Given the description of an element on the screen output the (x, y) to click on. 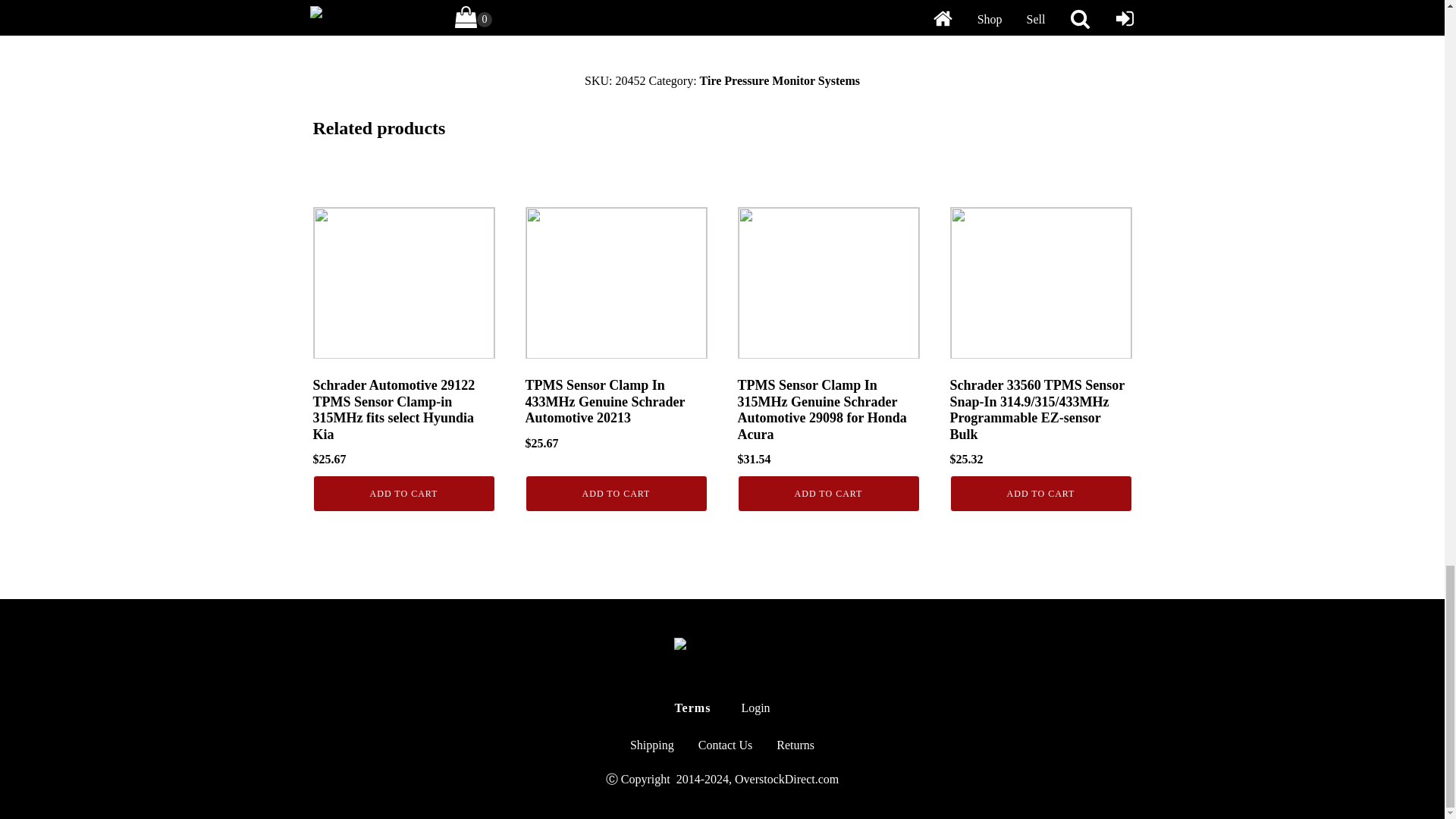
ADD TO CART (1040, 493)
Contact Us (725, 745)
Shipping (651, 745)
Tire Pressure Monitor Systems (780, 80)
Terms (692, 708)
Submit (721, 9)
ADD TO CART (615, 493)
Login (754, 707)
Returns (795, 745)
Submit (721, 9)
ADD TO CART (404, 493)
ADD TO CART (827, 493)
